Given the description of an element on the screen output the (x, y) to click on. 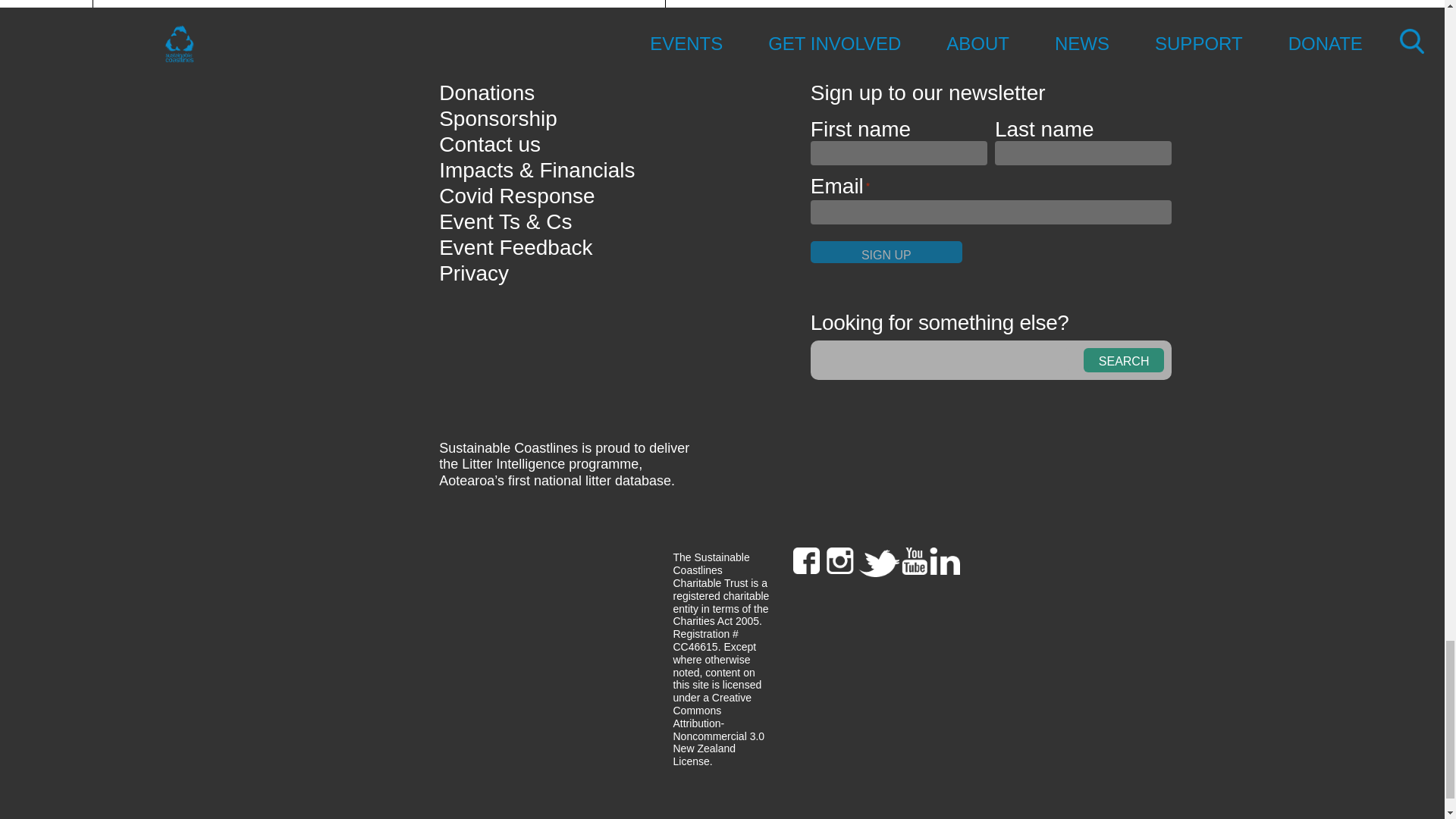
Search (1123, 360)
Sign up (886, 251)
